Given the description of an element on the screen output the (x, y) to click on. 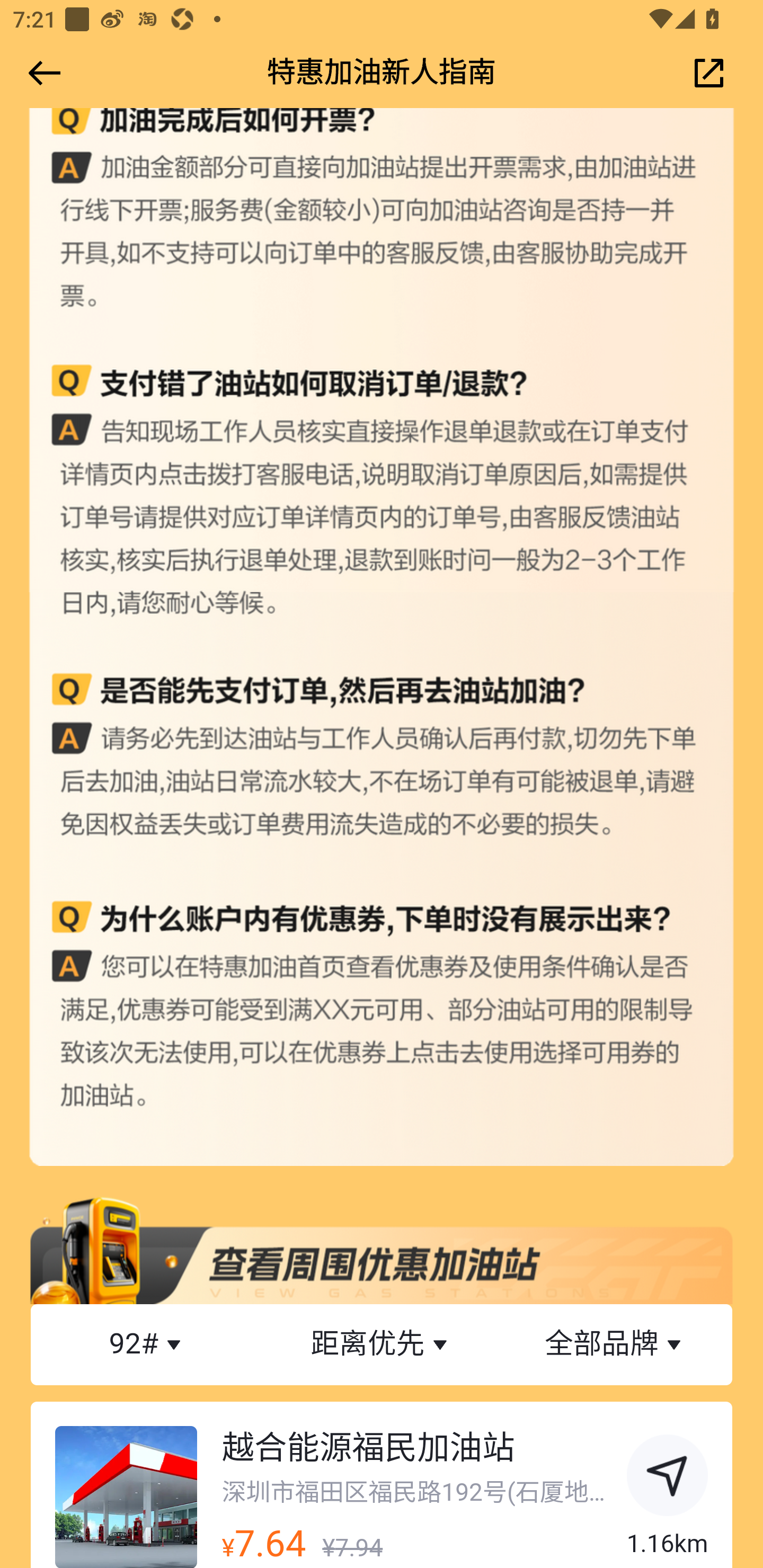
 (41, 72)
特惠加油新人指南 (381, 72)
5b742f323aac4a19ab6a3d762ccced50~750x0 (381, 1249)
92# (147, 1344)
距离优先 (381, 1344)
全部品牌 (614, 1344)
ba197686b7094d8888a43cd739b47287~noop (667, 1477)
